Given the description of an element on the screen output the (x, y) to click on. 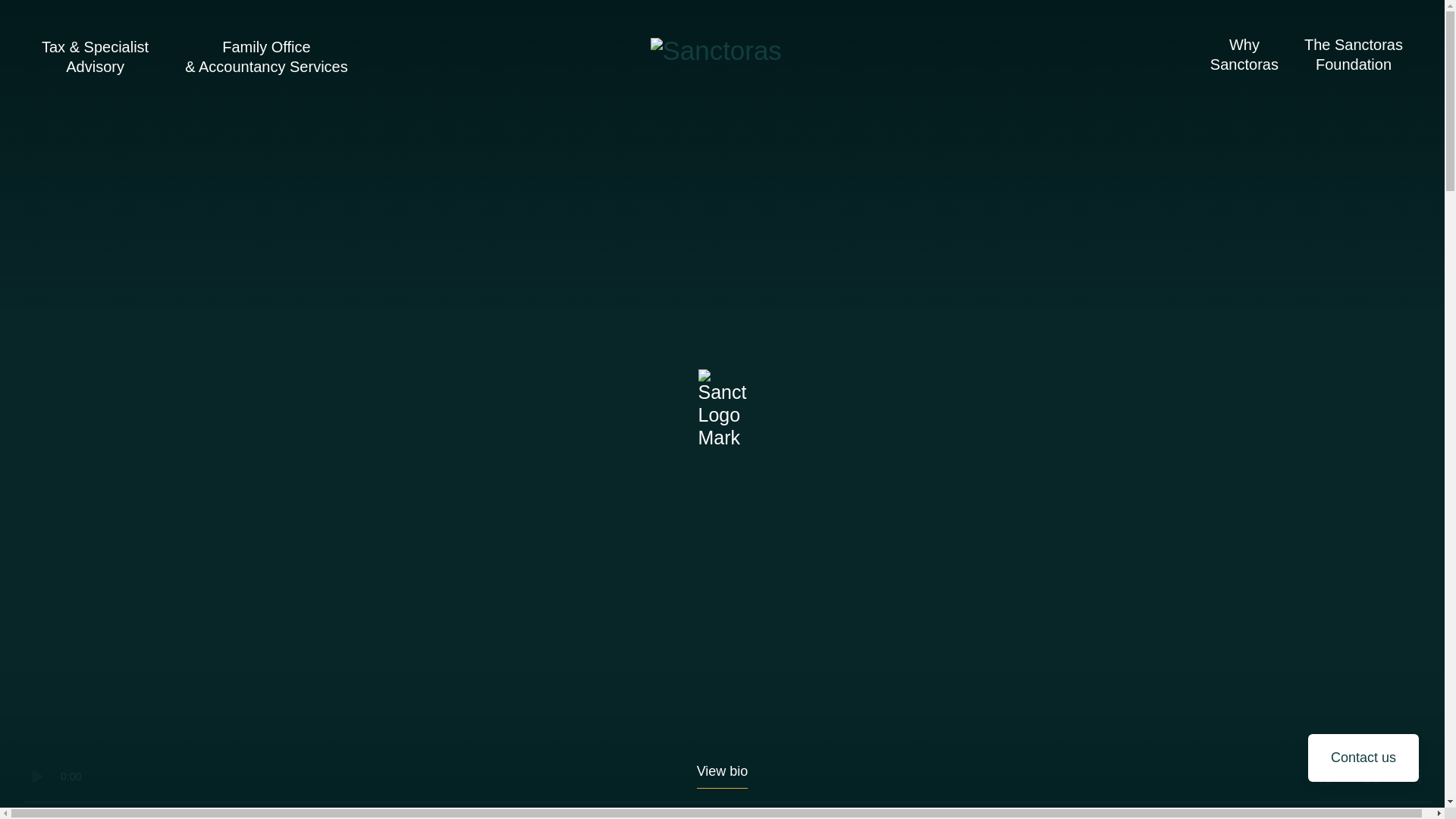
View bio (722, 775)
Contact us (1362, 757)
